Given the description of an element on the screen output the (x, y) to click on. 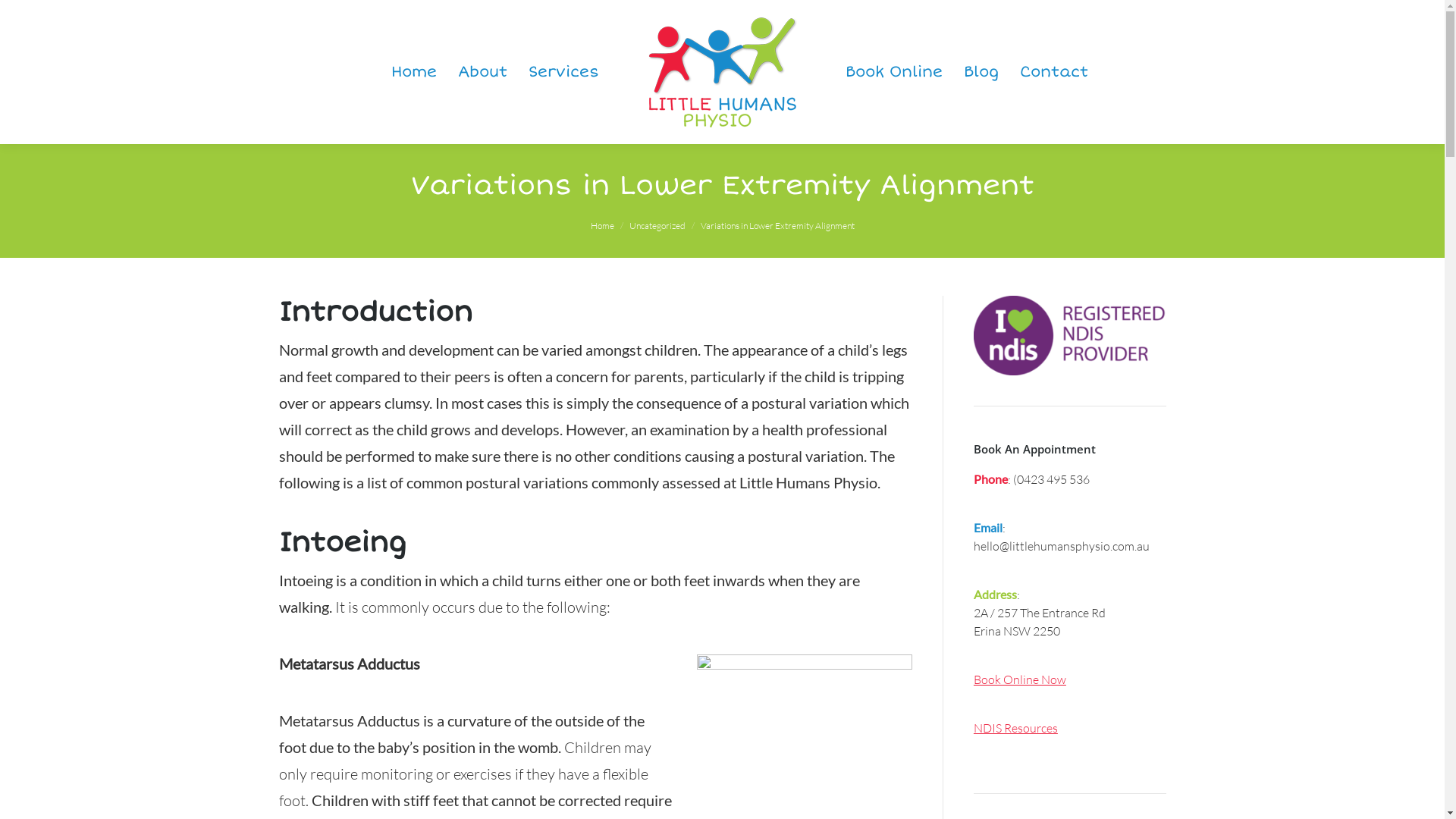
Book Online Now Element type: text (1019, 679)
Uncategorized Element type: text (657, 225)
Blog Element type: text (980, 71)
Home Element type: text (601, 225)
NDIS Resources Element type: text (1015, 727)
  Element type: text (365, 71)
Go! Element type: text (18, 15)
About Element type: text (482, 71)
Services Element type: text (563, 71)
Post Comment Element type: text (48, 15)
Book Online Element type: text (893, 71)
Home Element type: text (413, 71)
Contact Element type: text (1053, 71)
